Given the description of an element on the screen output the (x, y) to click on. 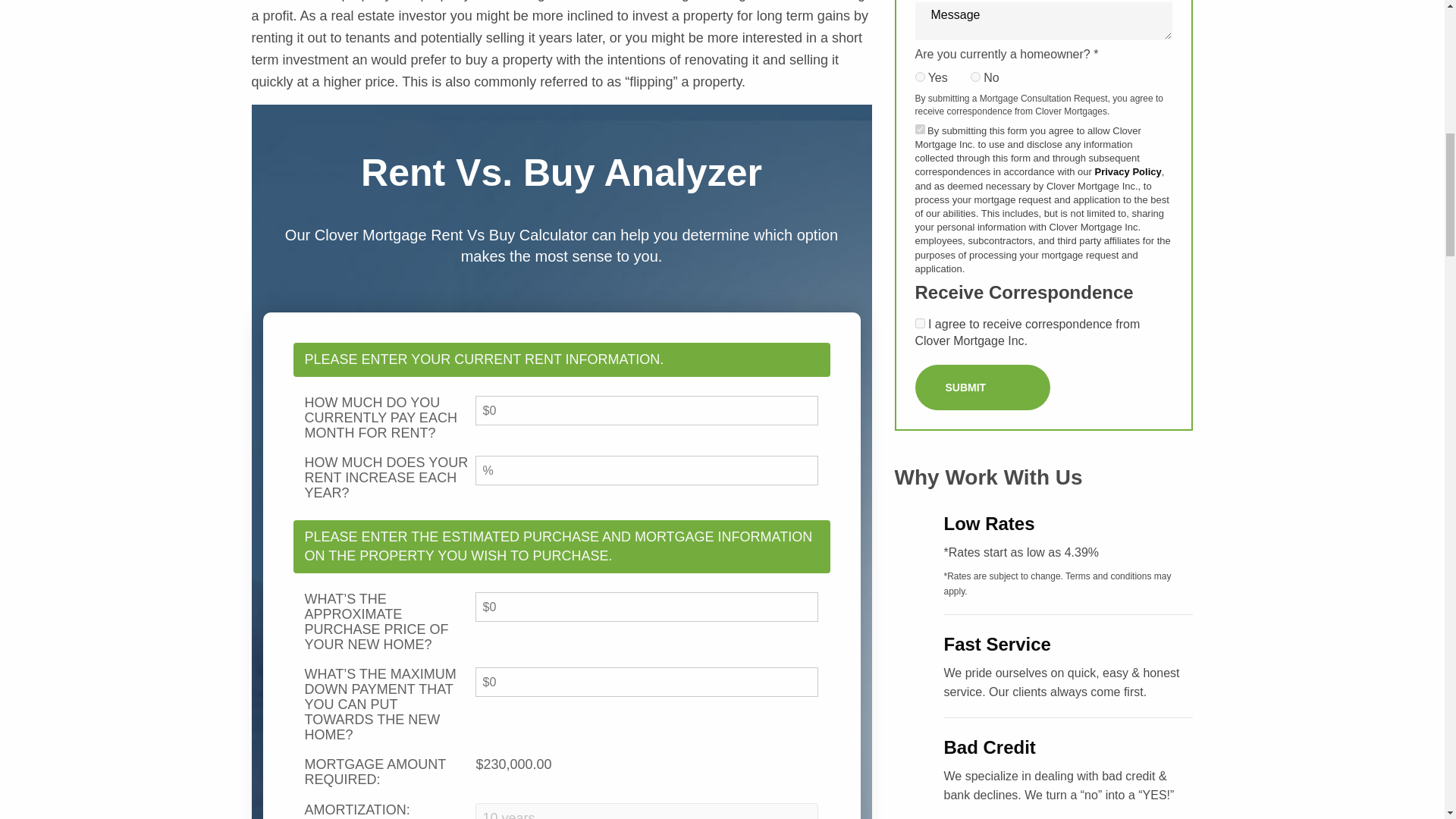
Privacy Policy (1127, 171)
SUBMIT (981, 387)
No (975, 76)
Yes (919, 76)
Yes (919, 323)
Yes (919, 129)
